Given the description of an element on the screen output the (x, y) to click on. 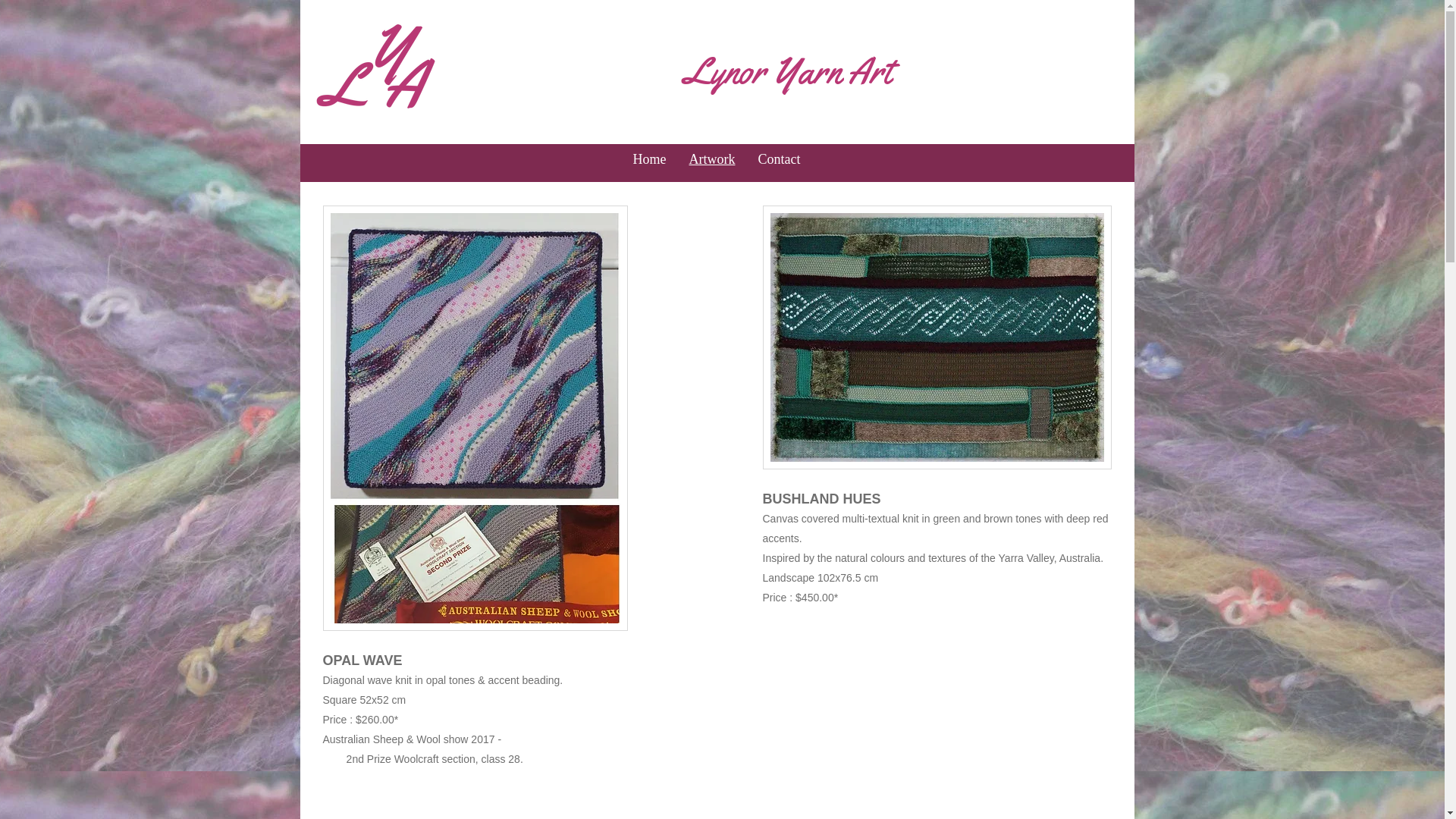
Artwork Element type: text (711, 158)
Home Element type: text (649, 158)
Contact Element type: text (778, 158)
